Given the description of an element on the screen output the (x, y) to click on. 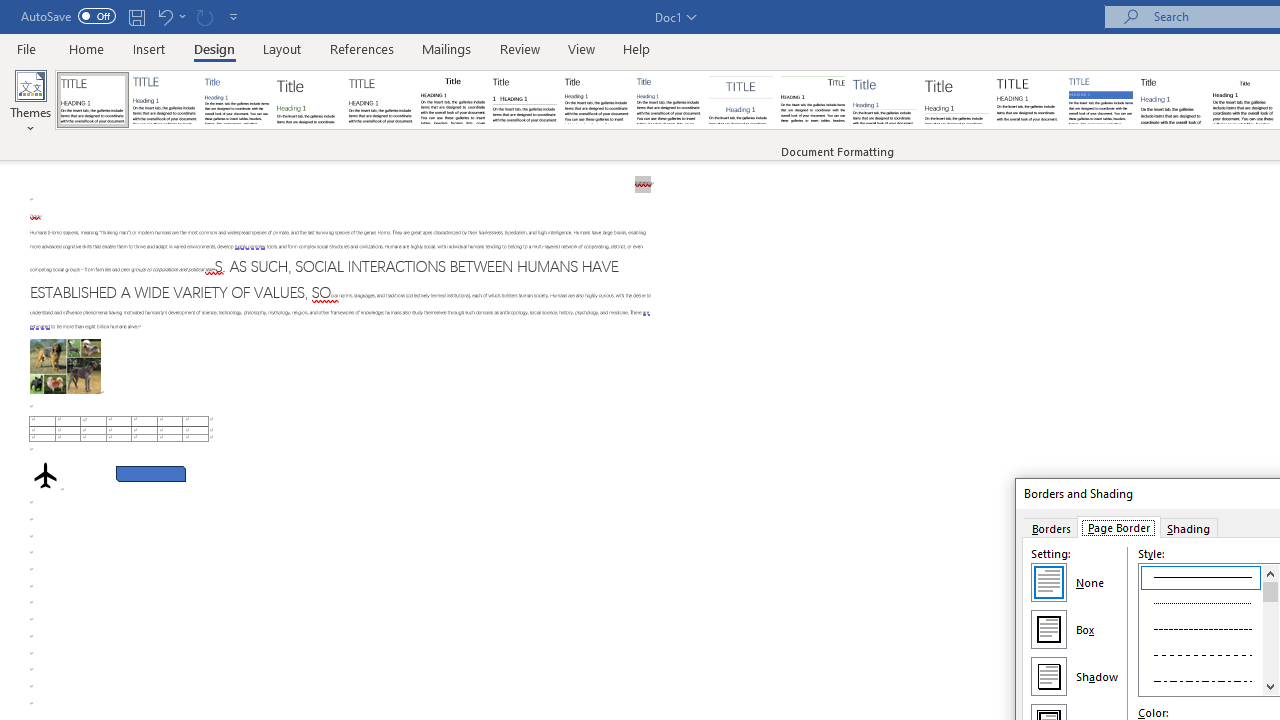
Centered (740, 100)
Black & White (Capitalized) (381, 100)
Shadow (1048, 676)
Minimalist (1028, 100)
Lines (Simple) (884, 100)
Line up (1270, 573)
AutomationID: 37 (1270, 629)
Can't Repeat (204, 15)
Lines (Distinctive) (812, 100)
